Given the description of an element on the screen output the (x, y) to click on. 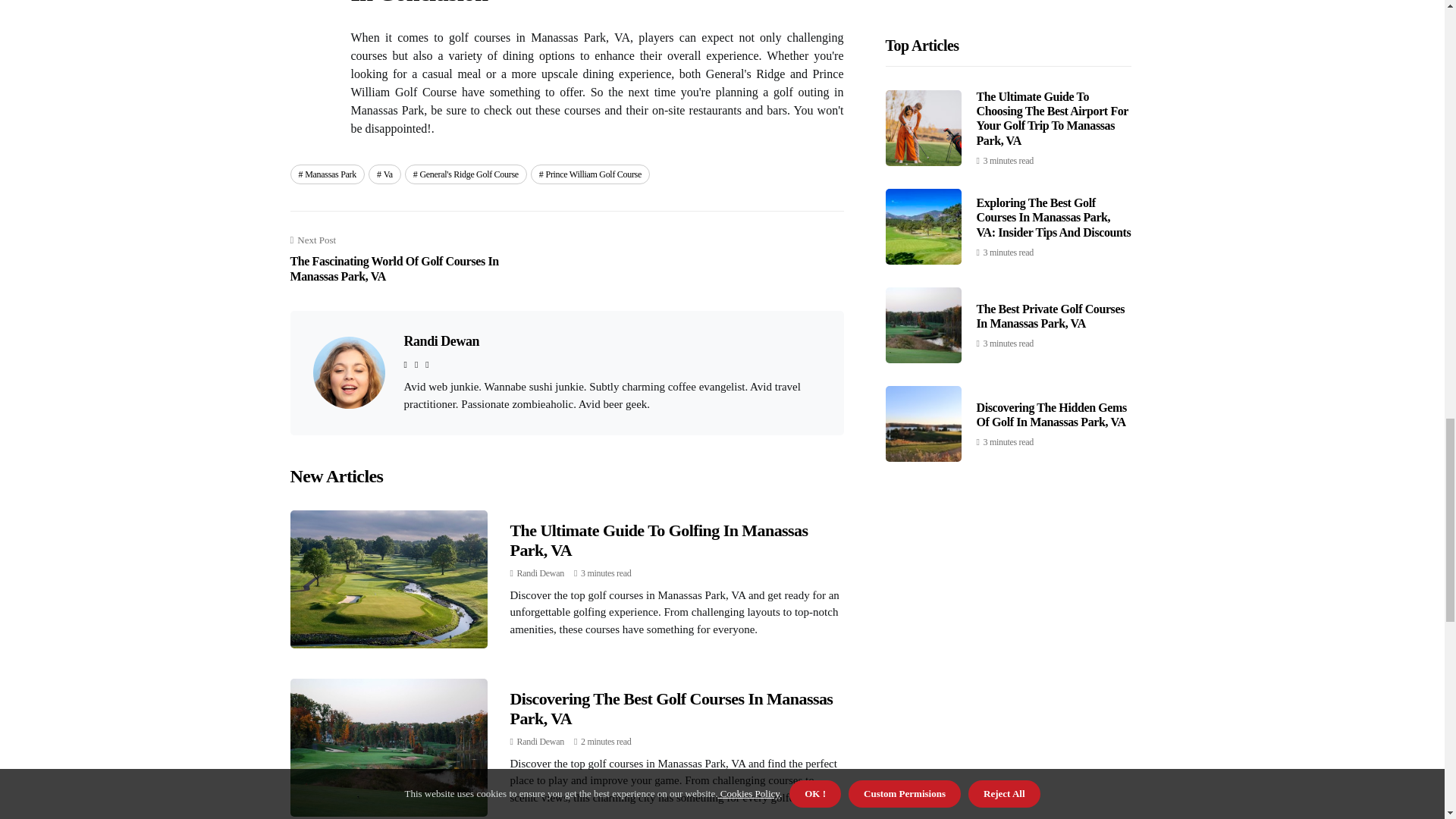
Randi Dewan (540, 573)
Posts by Randi Dewan (540, 741)
Randi Dewan (441, 340)
Discovering The Best Golf Courses In Manassas Park, VA (670, 708)
Posts by Randi Dewan (540, 573)
Manassas Park (326, 174)
Prince William Golf Course (590, 174)
The Ultimate Guide To Golfing In Manassas Park, VA (658, 539)
Randi Dewan (540, 741)
Va (384, 174)
General'S Ridge Golf Course (465, 174)
